Given the description of an element on the screen output the (x, y) to click on. 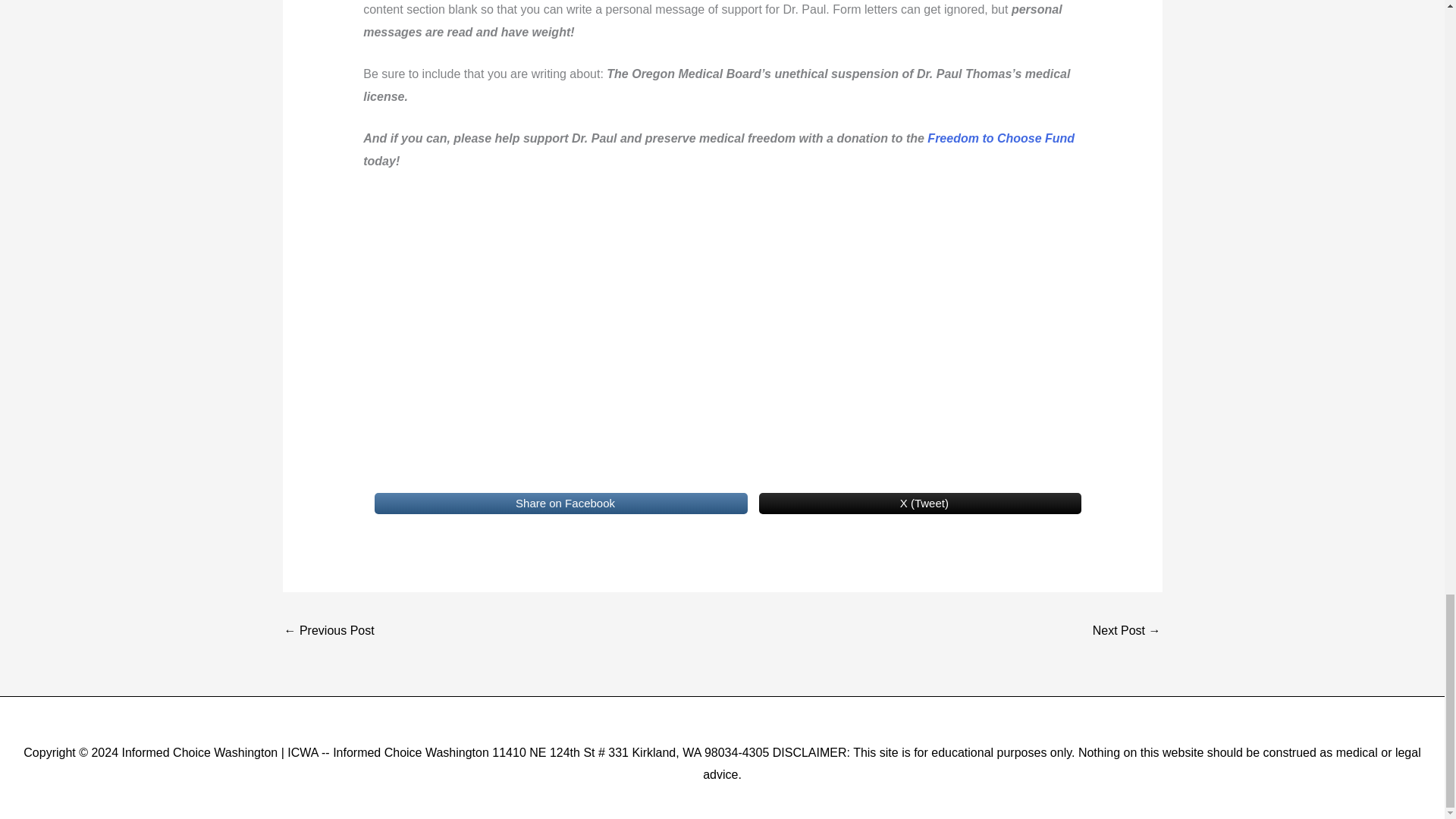
Share on Facebook (561, 503)
Freedom to Choose Fund (1000, 137)
